Given the description of an element on the screen output the (x, y) to click on. 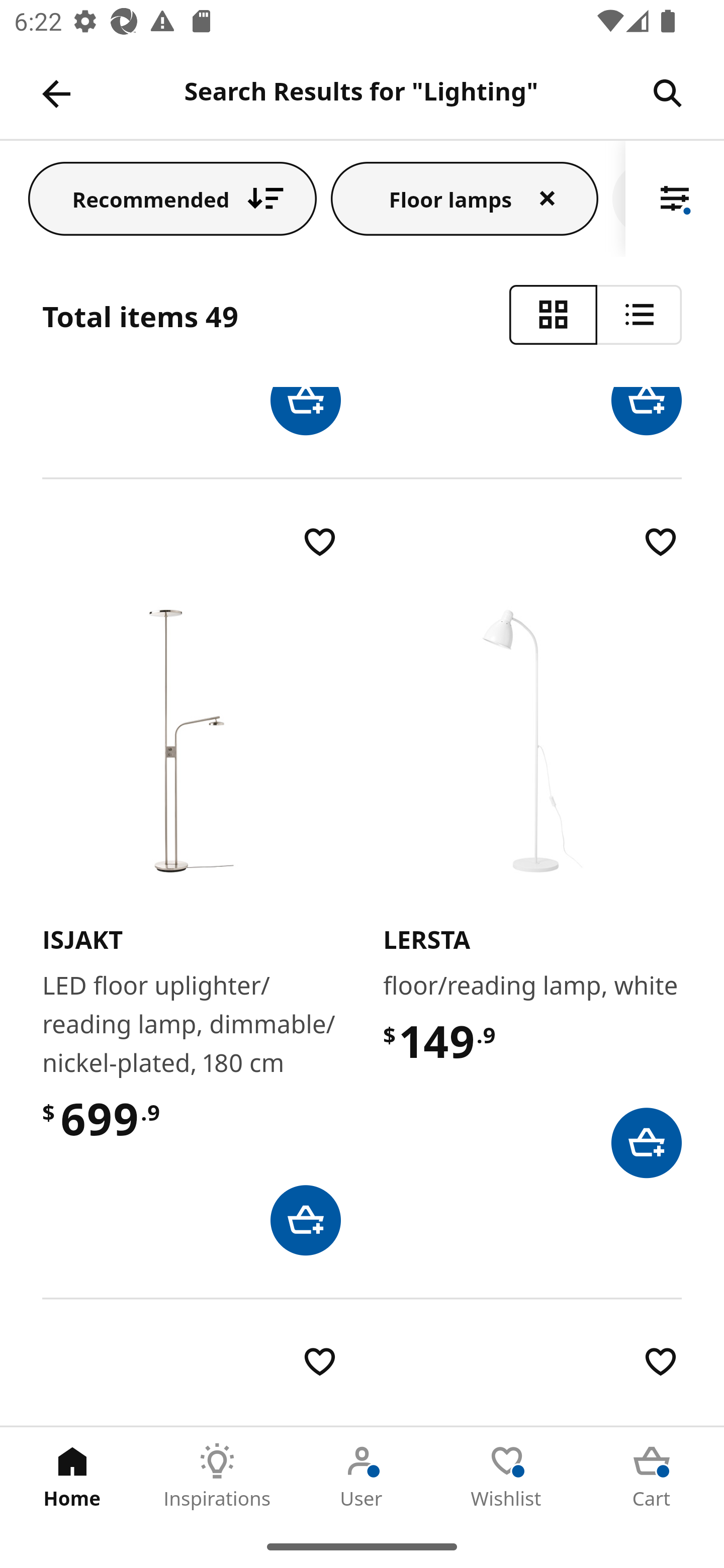
Recommended (172, 198)
Floor lamps (464, 198)
​L​E​R​S​T​A​
floor/reading lamp, white
$
149
.9 (532, 849)
Home
Tab 1 of 5 (72, 1476)
Inspirations
Tab 2 of 5 (216, 1476)
User
Tab 3 of 5 (361, 1476)
Wishlist
Tab 4 of 5 (506, 1476)
Cart
Tab 5 of 5 (651, 1476)
